Given the description of an element on the screen output the (x, y) to click on. 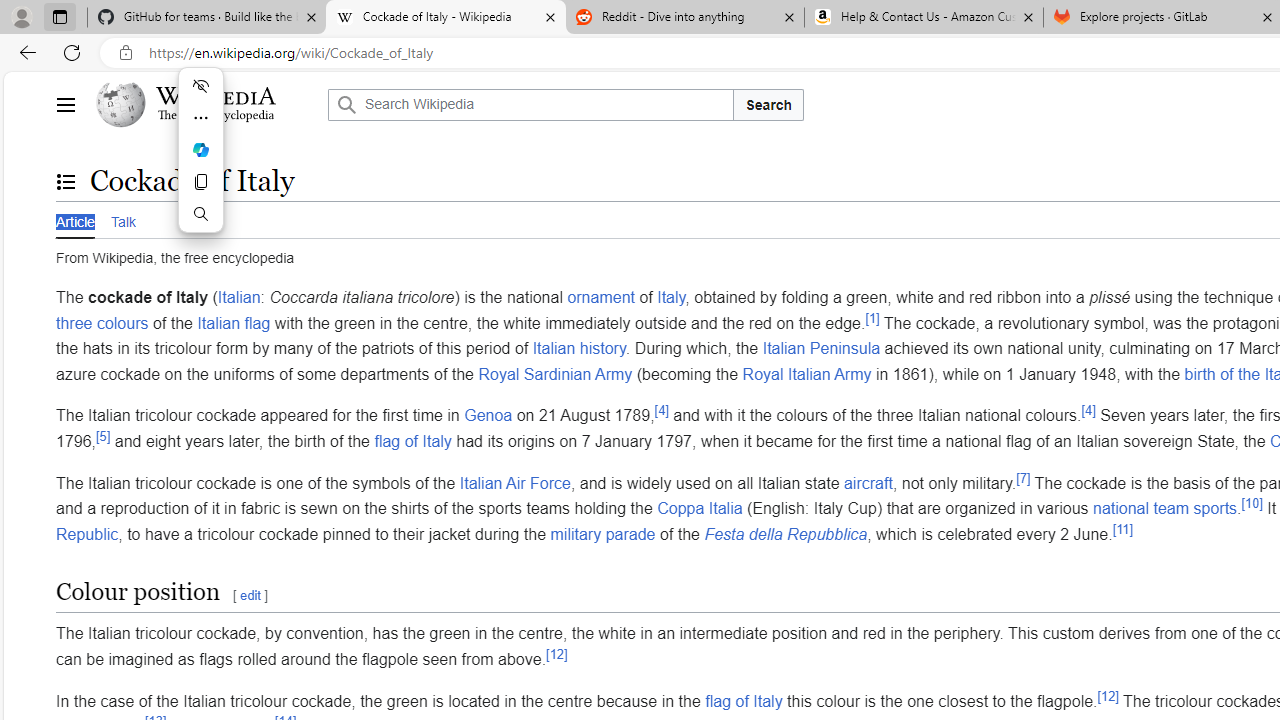
Italian Air Force (514, 482)
[7] (1023, 478)
Genoa (488, 415)
More actions (200, 117)
ornament (600, 297)
Search Wikipedia (530, 104)
aircraft (868, 482)
Help & Contact Us - Amazon Customer Service (924, 17)
Talk (122, 219)
three colours (102, 322)
Reddit - Dive into anything (684, 17)
Article (75, 219)
Festa della Repubblica (785, 533)
Mini menu on text selection (200, 161)
